Given the description of an element on the screen output the (x, y) to click on. 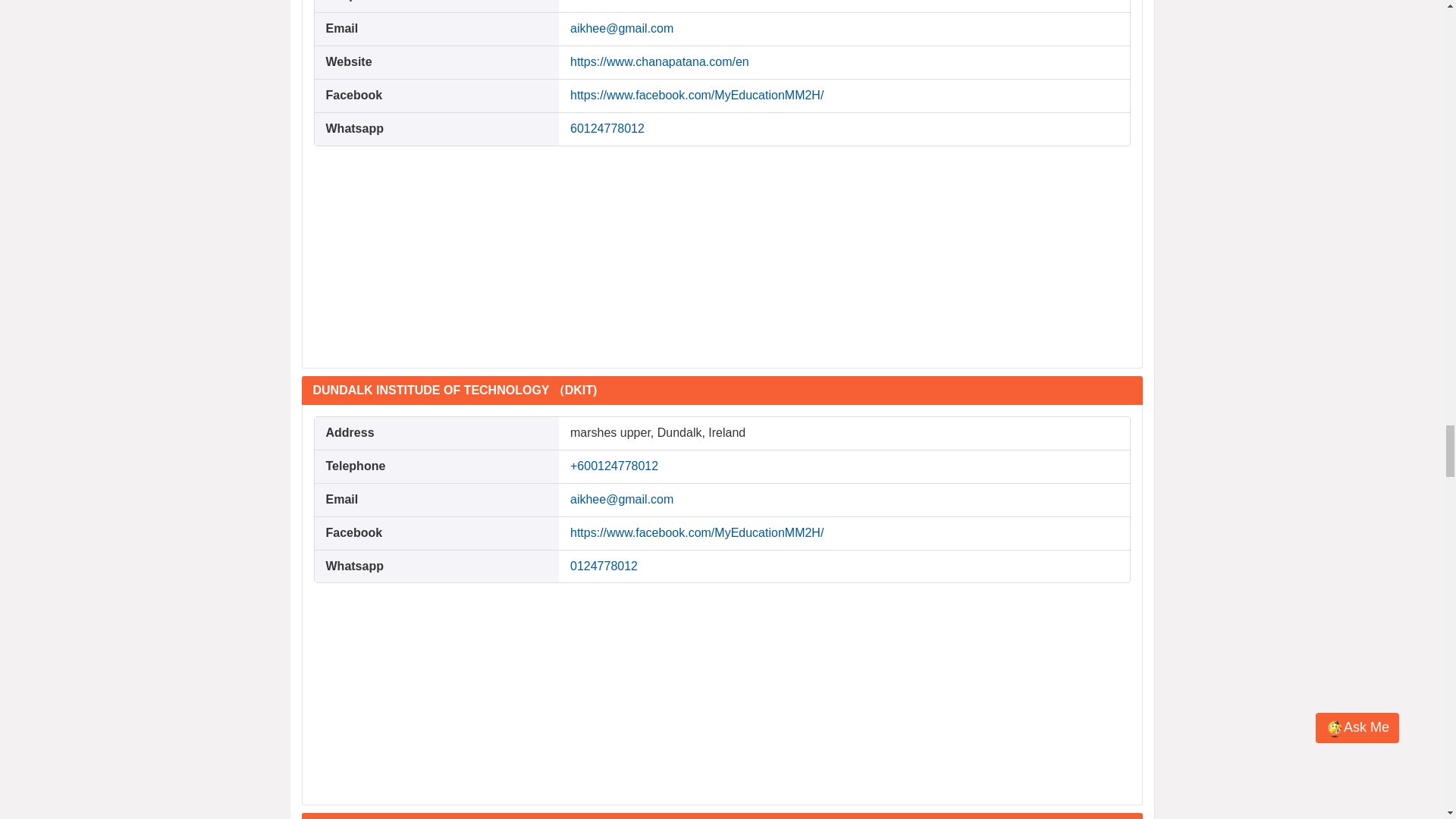
60124778012 (607, 128)
